Given the description of an element on the screen output the (x, y) to click on. 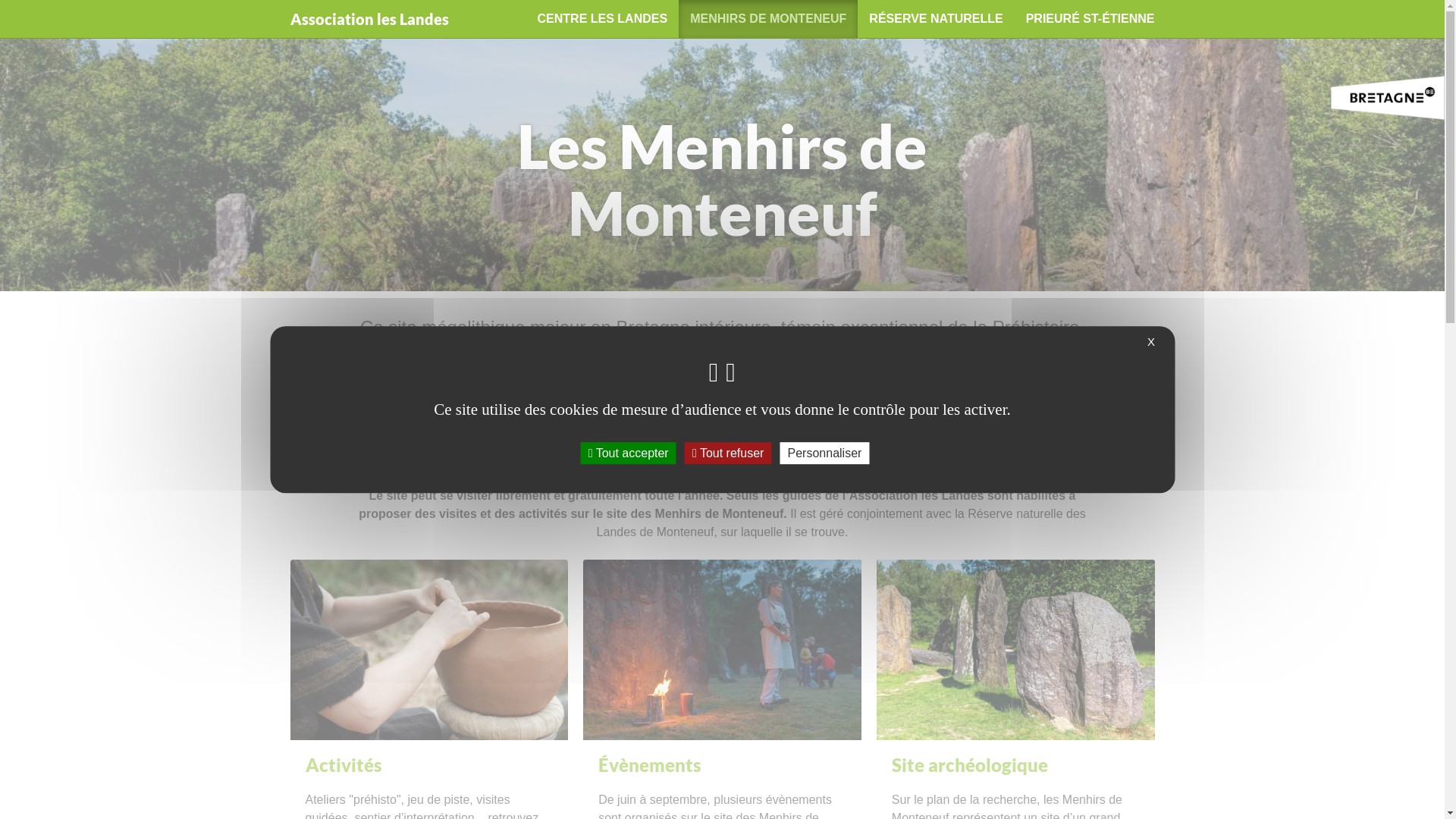
CENTRE LES LANDES Element type: text (602, 18)
MENHIRS DE MONTENEUF Element type: text (767, 18)
Association les Landes Element type: text (369, 18)
Tout refuser Element type: text (727, 453)
Personnaliser Element type: text (824, 453)
Tout accepter Element type: text (628, 453)
